Given the description of an element on the screen output the (x, y) to click on. 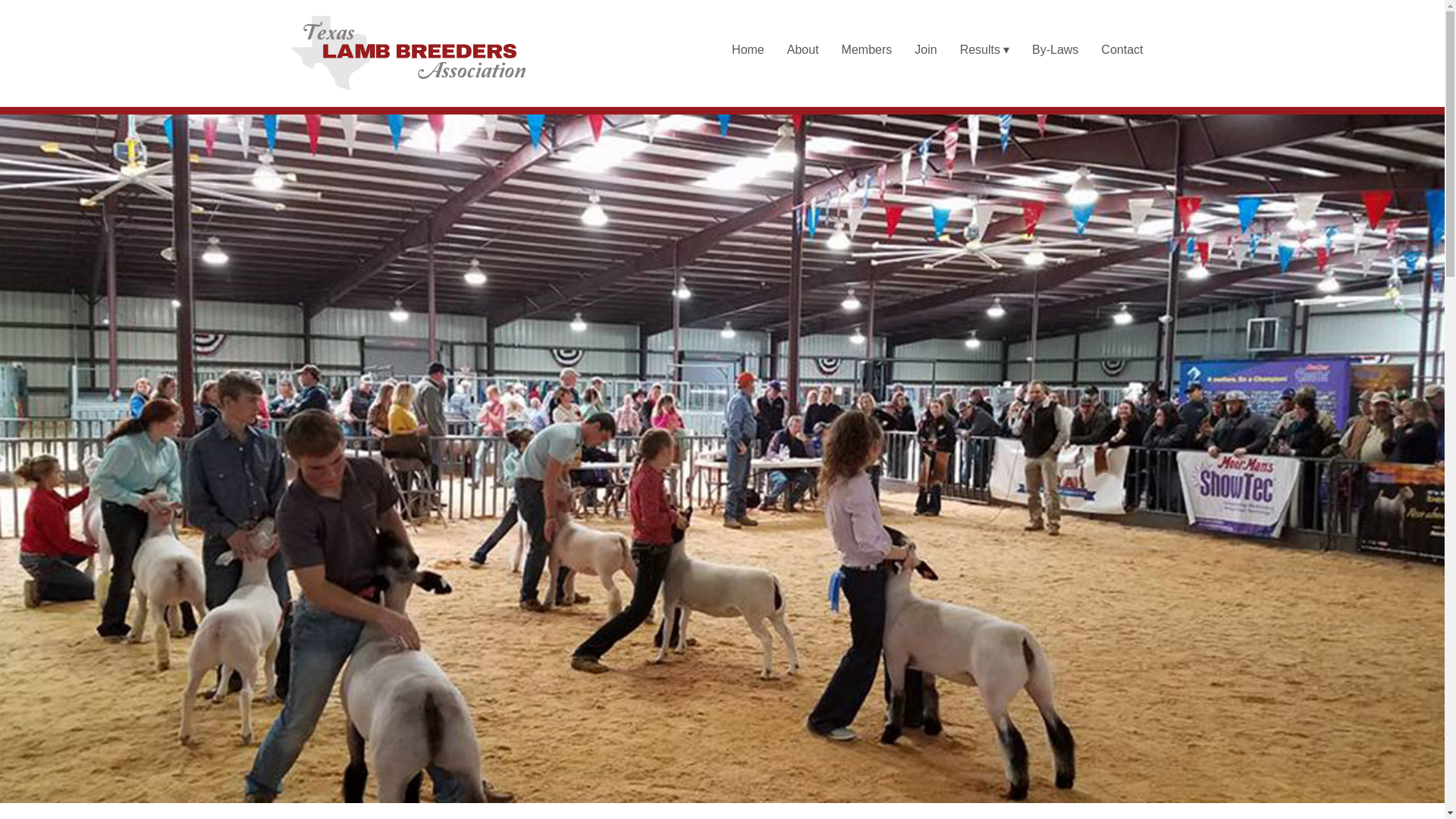
Join (924, 50)
Join (924, 50)
Home (748, 50)
About (802, 50)
By-Laws (1054, 50)
Members (866, 50)
About (802, 50)
By-Laws (1054, 50)
Contact (1121, 50)
Results (984, 50)
